Given the description of an element on the screen output the (x, y) to click on. 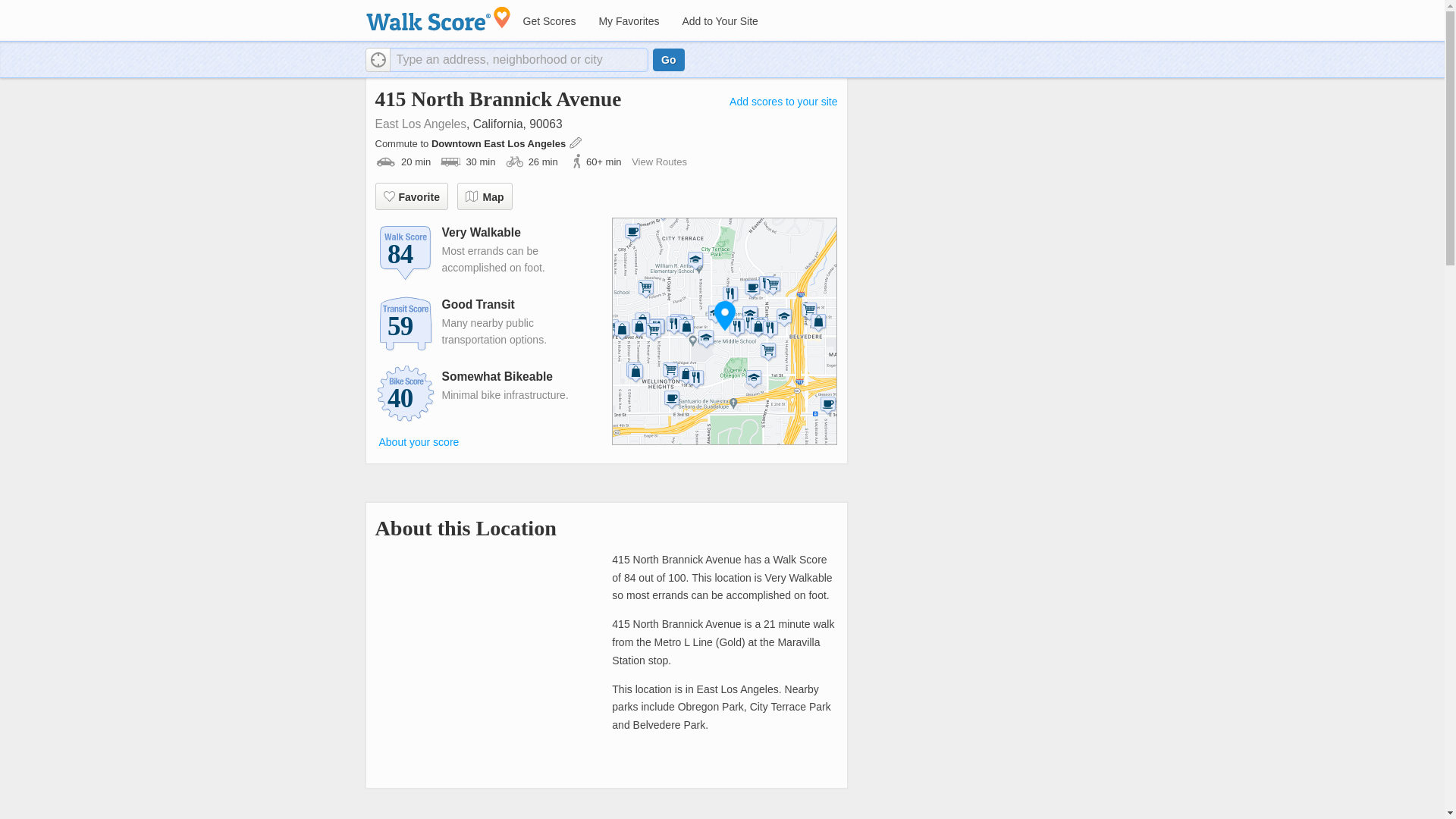
Add to Your Site (719, 21)
My Favorites (628, 21)
Map (484, 195)
About your score (419, 442)
Get Scores (548, 21)
East Los Angeles (419, 123)
Go (668, 59)
Downtown East Los Angeles (499, 143)
Favorite (410, 195)
Add scores to your site (783, 101)
View Routes (659, 161)
